Given the description of an element on the screen output the (x, y) to click on. 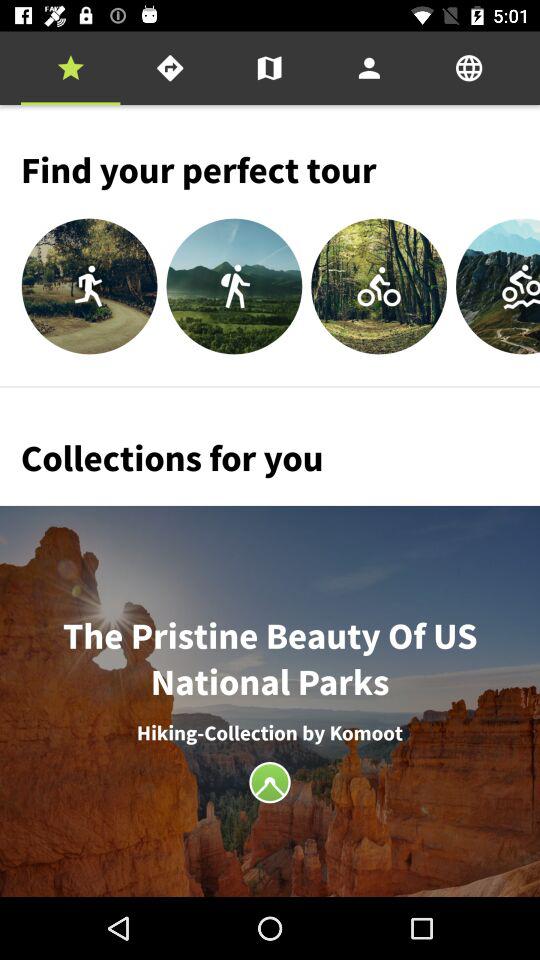
turn on the item above the find your perfect (70, 68)
